Given the description of an element on the screen output the (x, y) to click on. 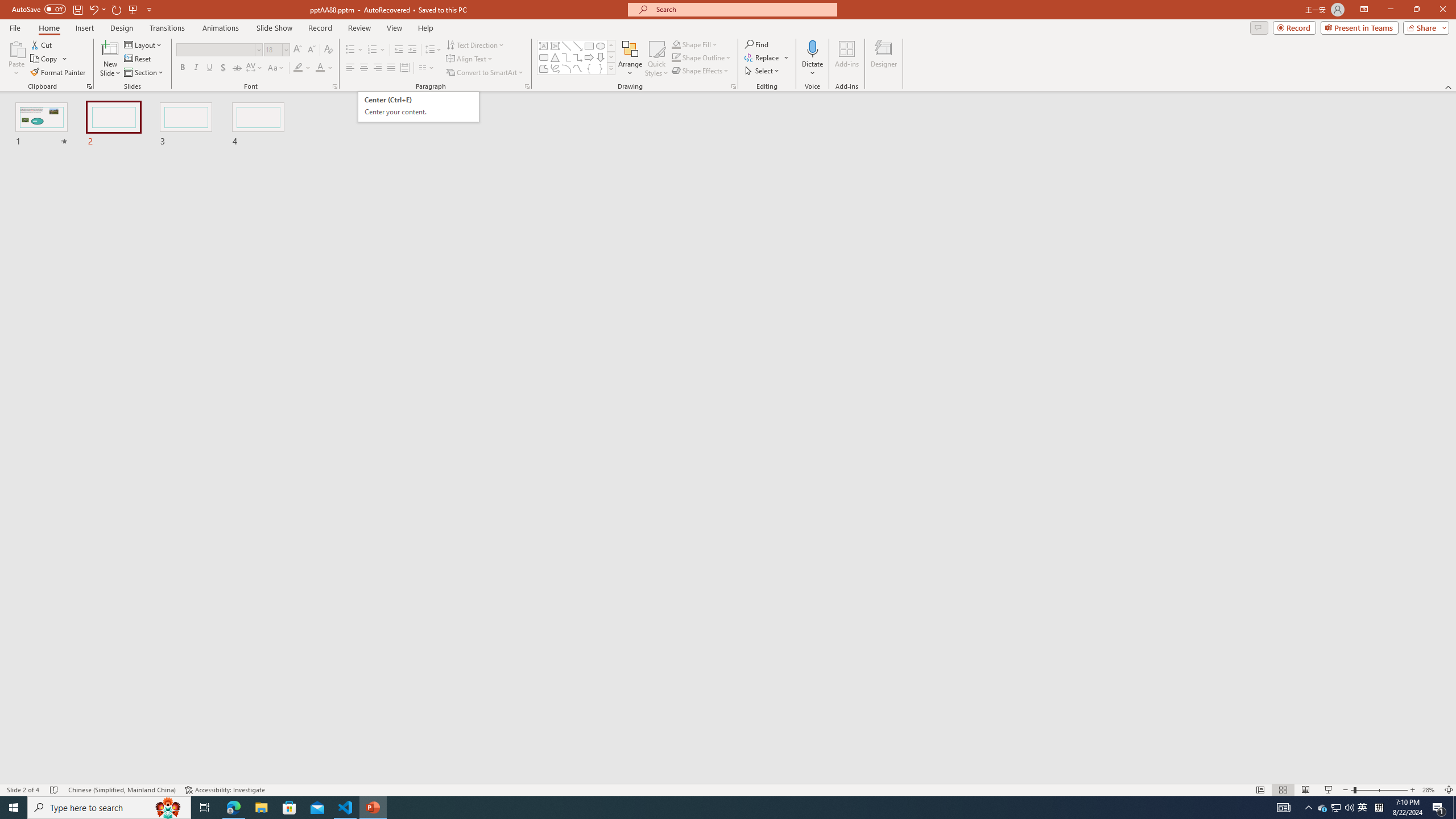
Line Spacing (433, 49)
Rectangle (589, 45)
Connector: Elbow (566, 57)
Distributed (404, 67)
Text Direction (476, 44)
Oval (600, 45)
Line (566, 45)
Arrow: Down (600, 57)
Shape Outline Teal, Accent 1 (675, 56)
